Given the description of an element on the screen output the (x, y) to click on. 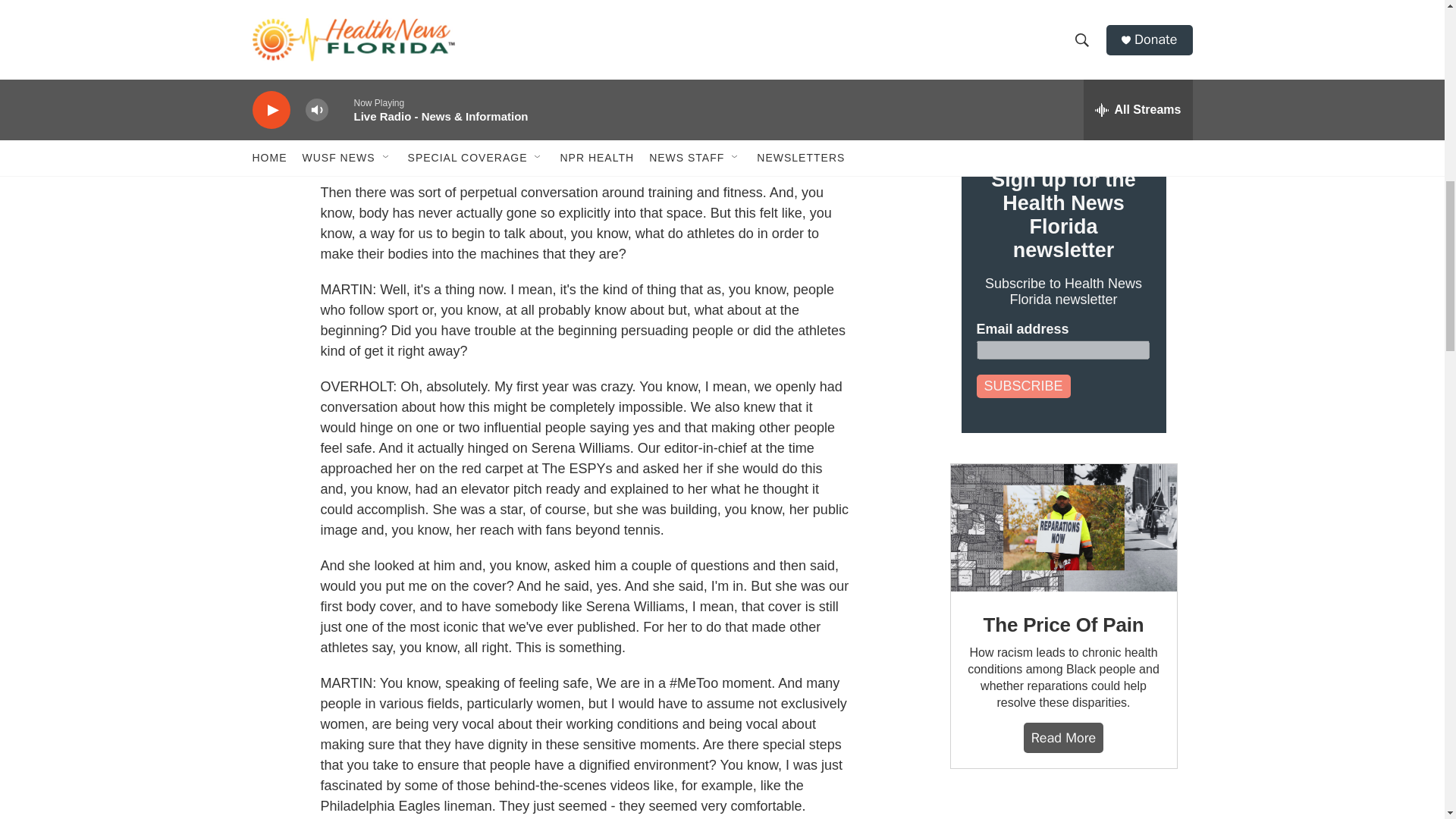
3rd party ad content (1062, 809)
